Given the description of an element on the screen output the (x, y) to click on. 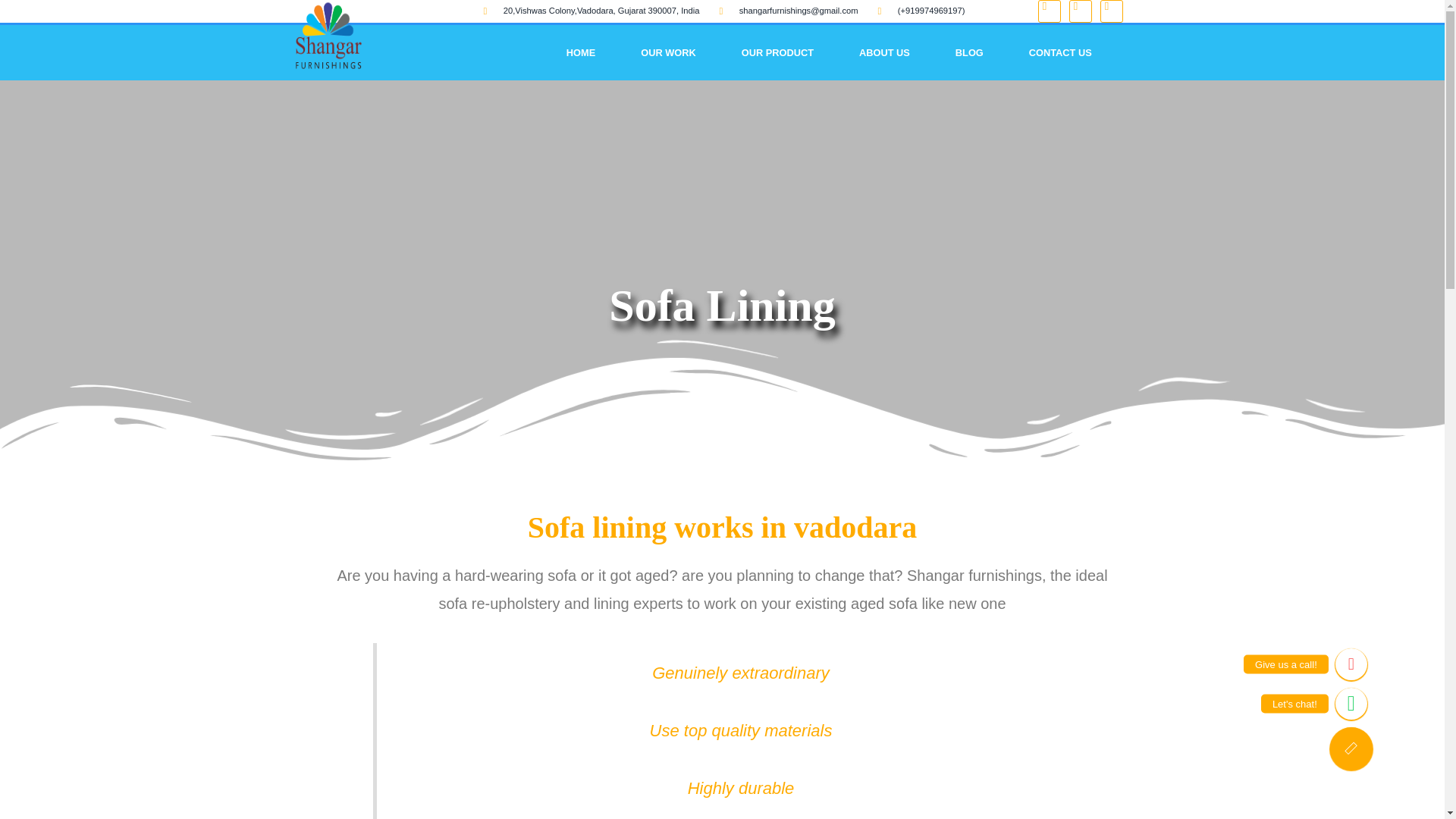
20,Vishwas Colony,Vadodara, Gujarat 390007, India (590, 10)
OUR PRODUCT (777, 51)
HOME (580, 51)
OUR WORK (668, 51)
